Given the description of an element on the screen output the (x, y) to click on. 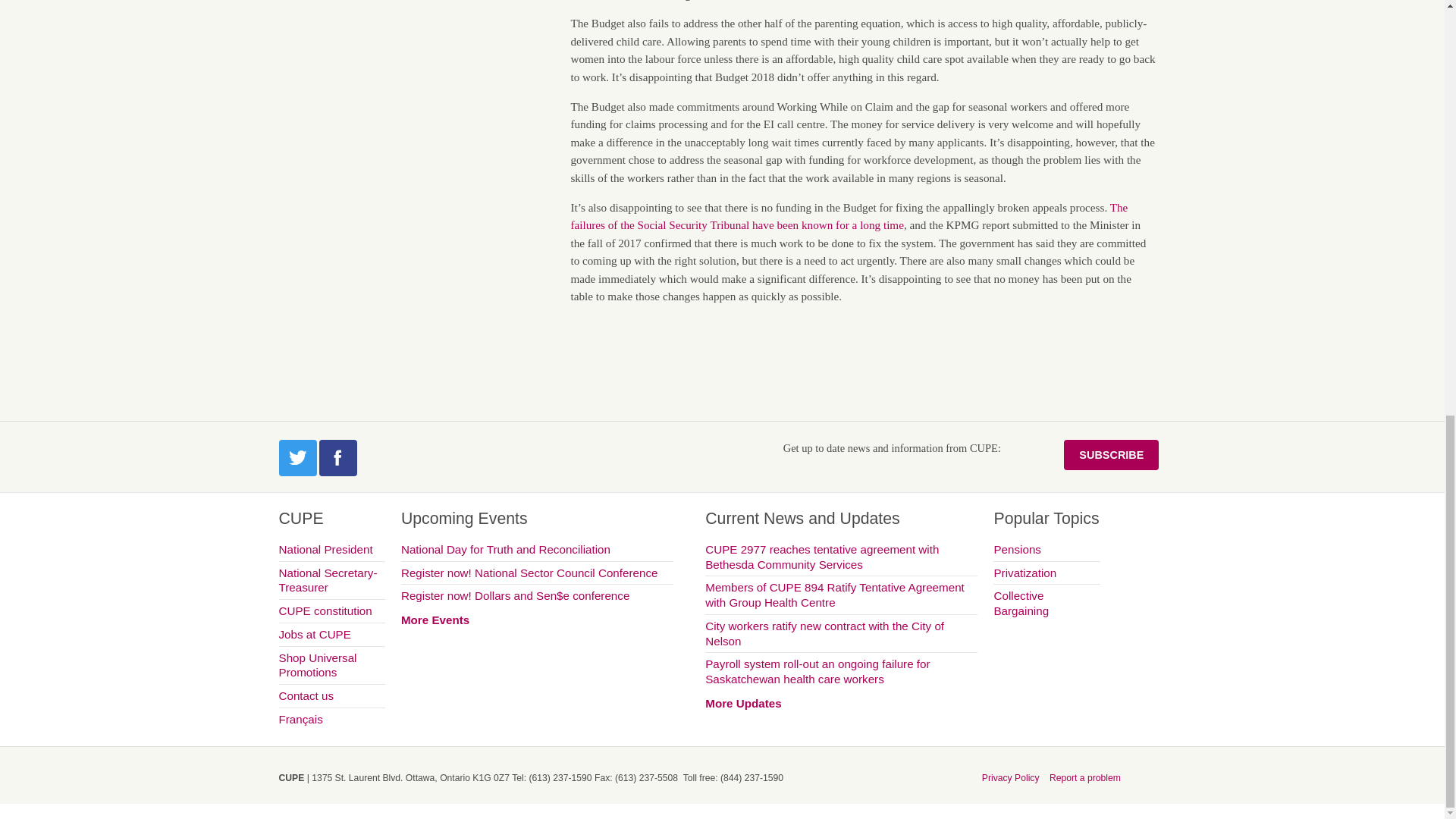
Visit our twitter page. (298, 457)
Facebook (337, 457)
Twitter (298, 457)
Visit our facebook page. (337, 457)
